Given the description of an element on the screen output the (x, y) to click on. 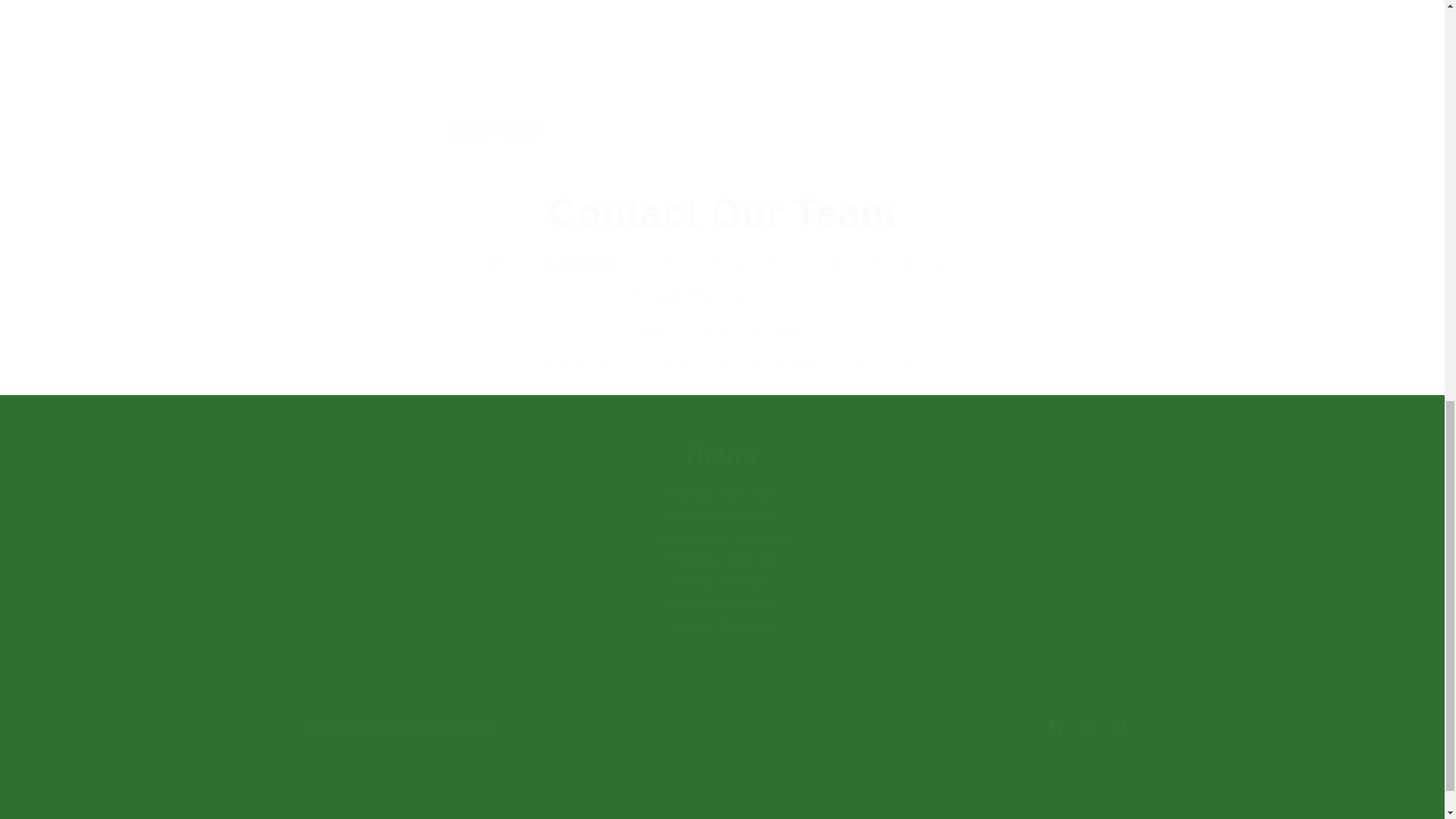
Send (721, 726)
Facebook (493, 137)
Contact Our Team (1055, 726)
Contact Us (721, 213)
Hours (578, 262)
